Given the description of an element on the screen output the (x, y) to click on. 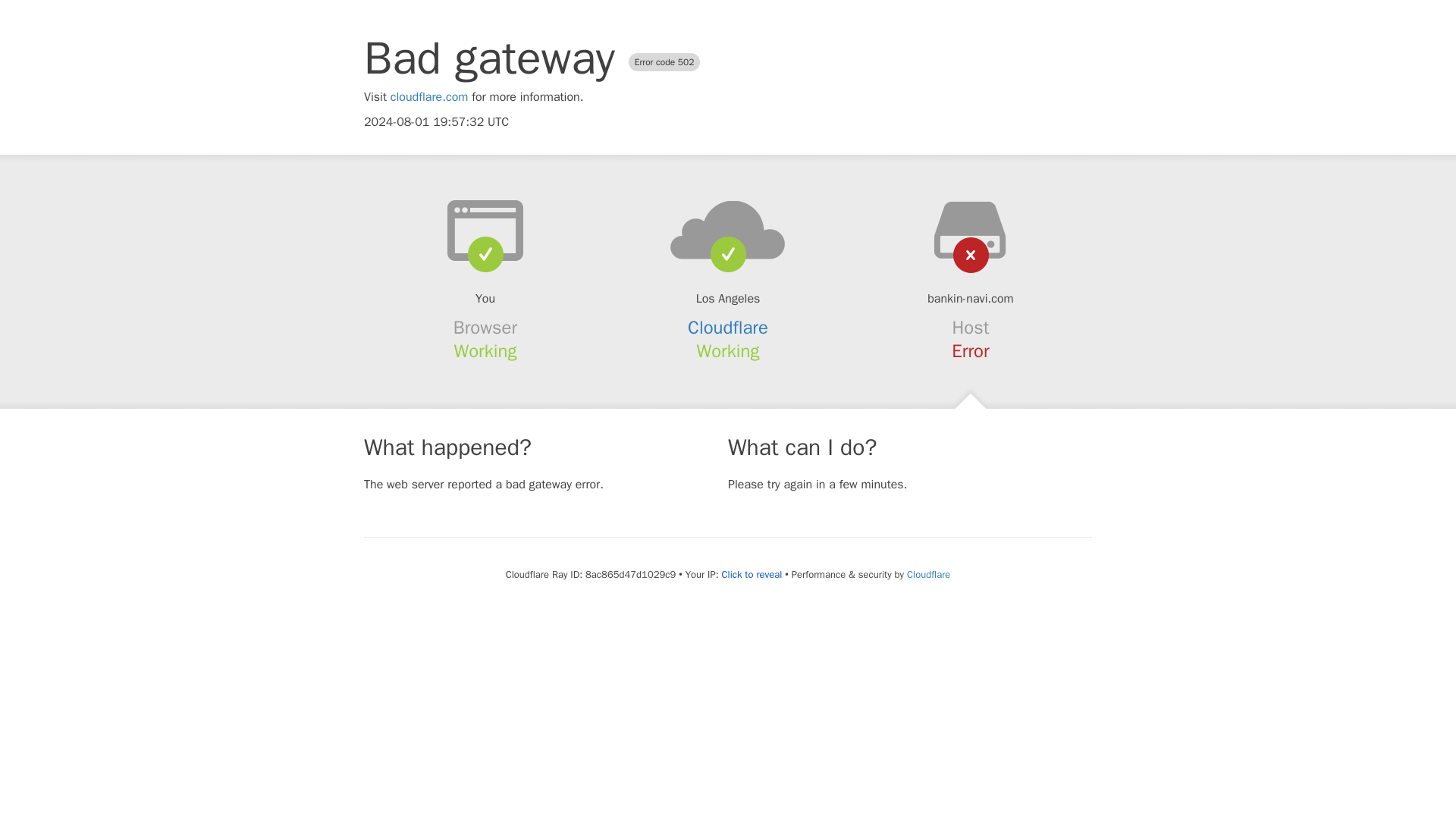
Cloudflare (727, 327)
cloudflare.com (429, 96)
Click to reveal (750, 574)
Cloudflare (928, 574)
